Given the description of an element on the screen output the (x, y) to click on. 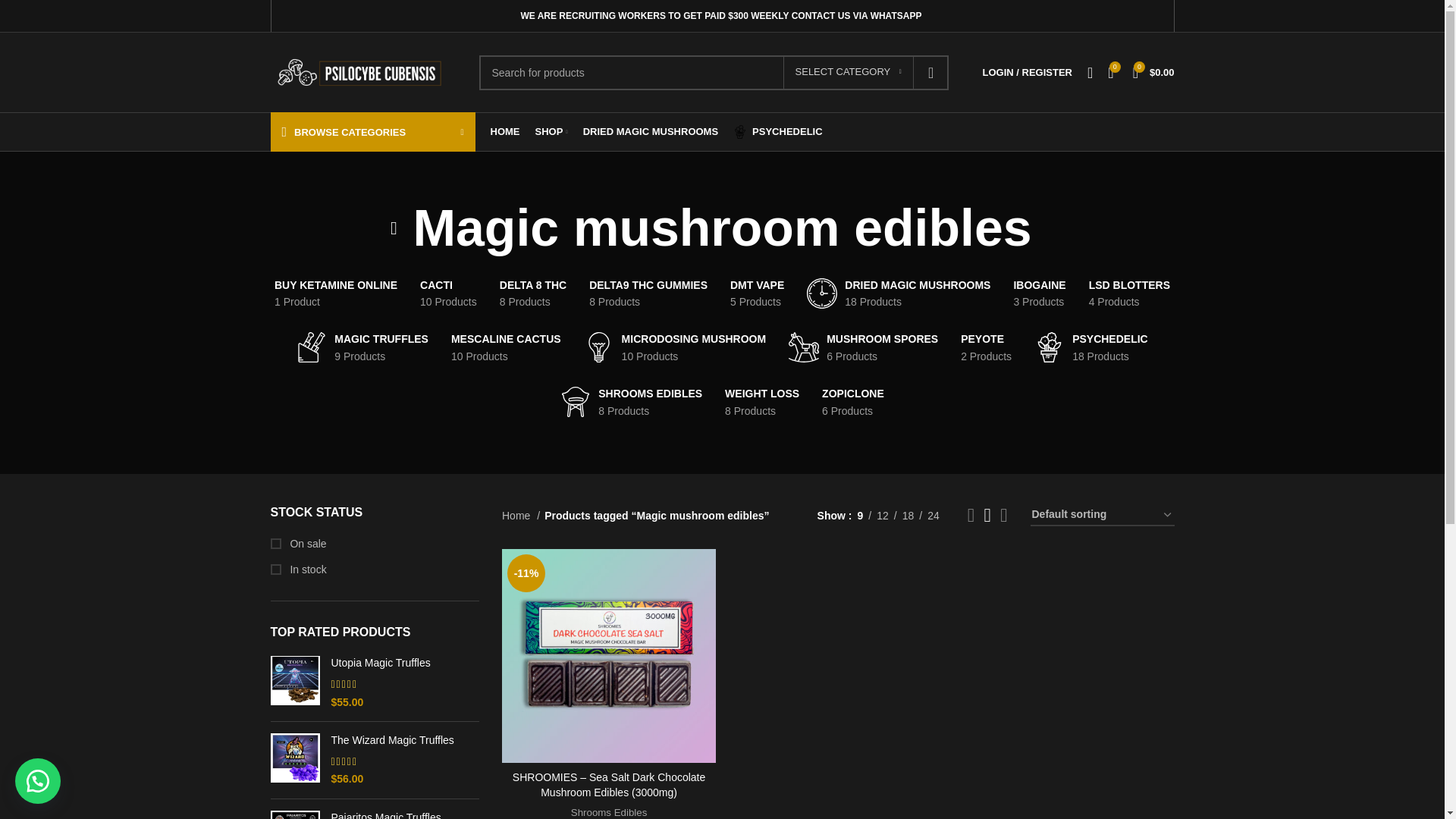
cat-light-bulb (598, 347)
cat-clock (821, 293)
cat-knives (311, 347)
cat-rocking-horse (803, 347)
SELECT CATEGORY (848, 71)
Search for products (714, 71)
flower (739, 131)
SEARCH (931, 71)
SELECT CATEGORY (848, 71)
My account (1027, 72)
